Given the description of an element on the screen output the (x, y) to click on. 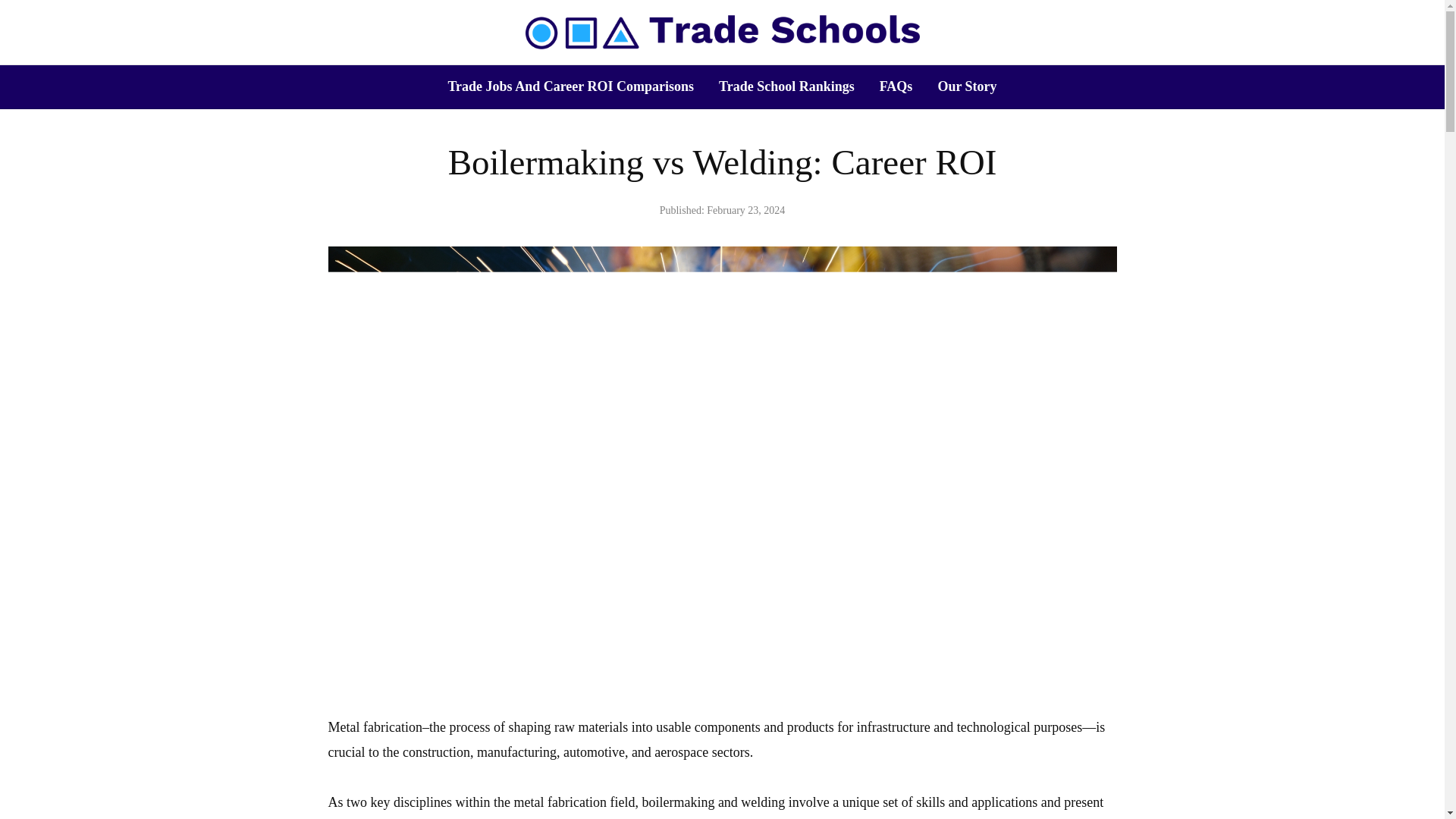
2024-02-23 (745, 210)
Trade School Rankings (786, 86)
Trade Jobs And Career ROI Comparisons (570, 86)
Our Story (966, 86)
